Given the description of an element on the screen output the (x, y) to click on. 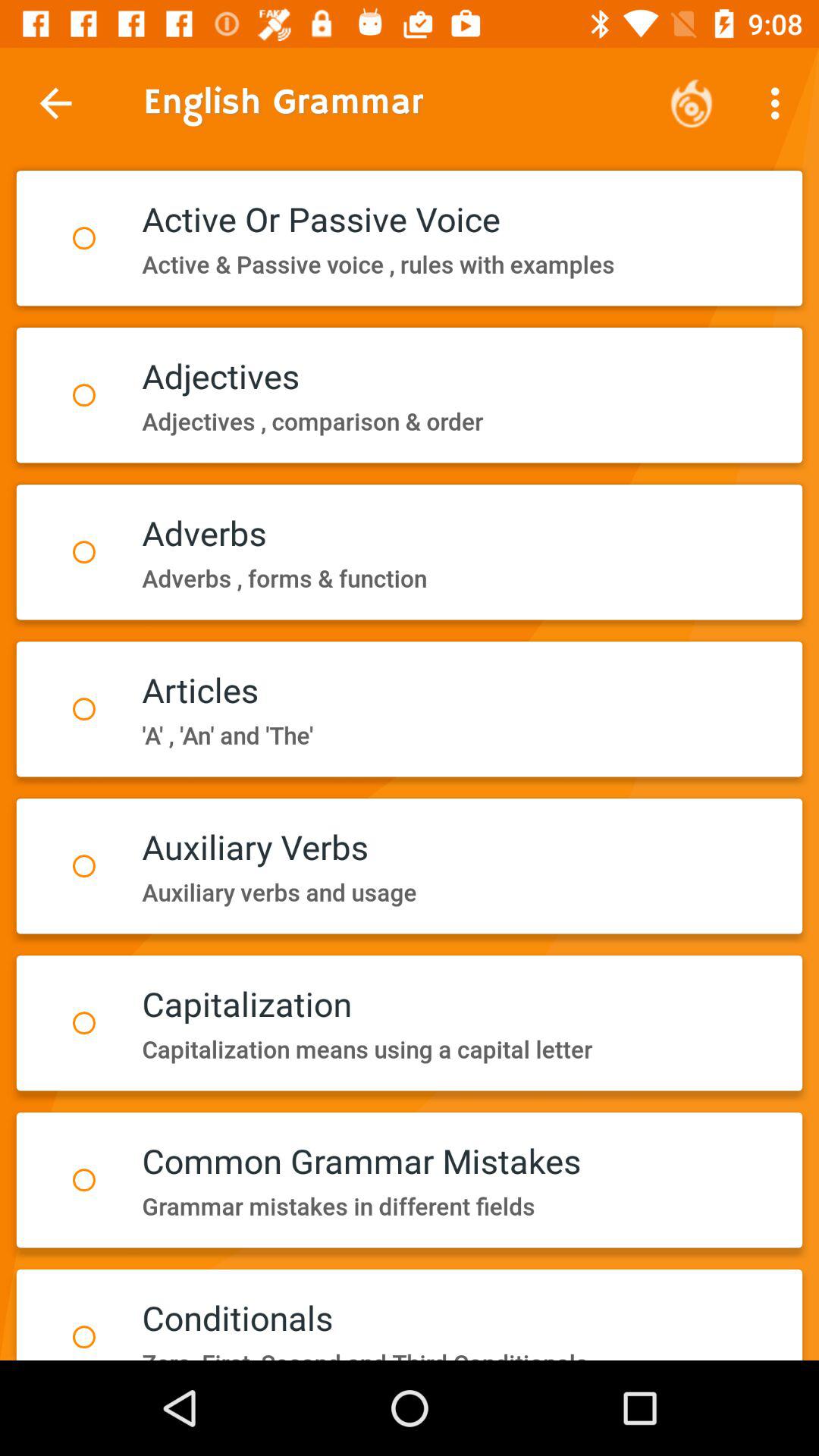
select icon to the right of english grammar icon (691, 103)
